Given the description of an element on the screen output the (x, y) to click on. 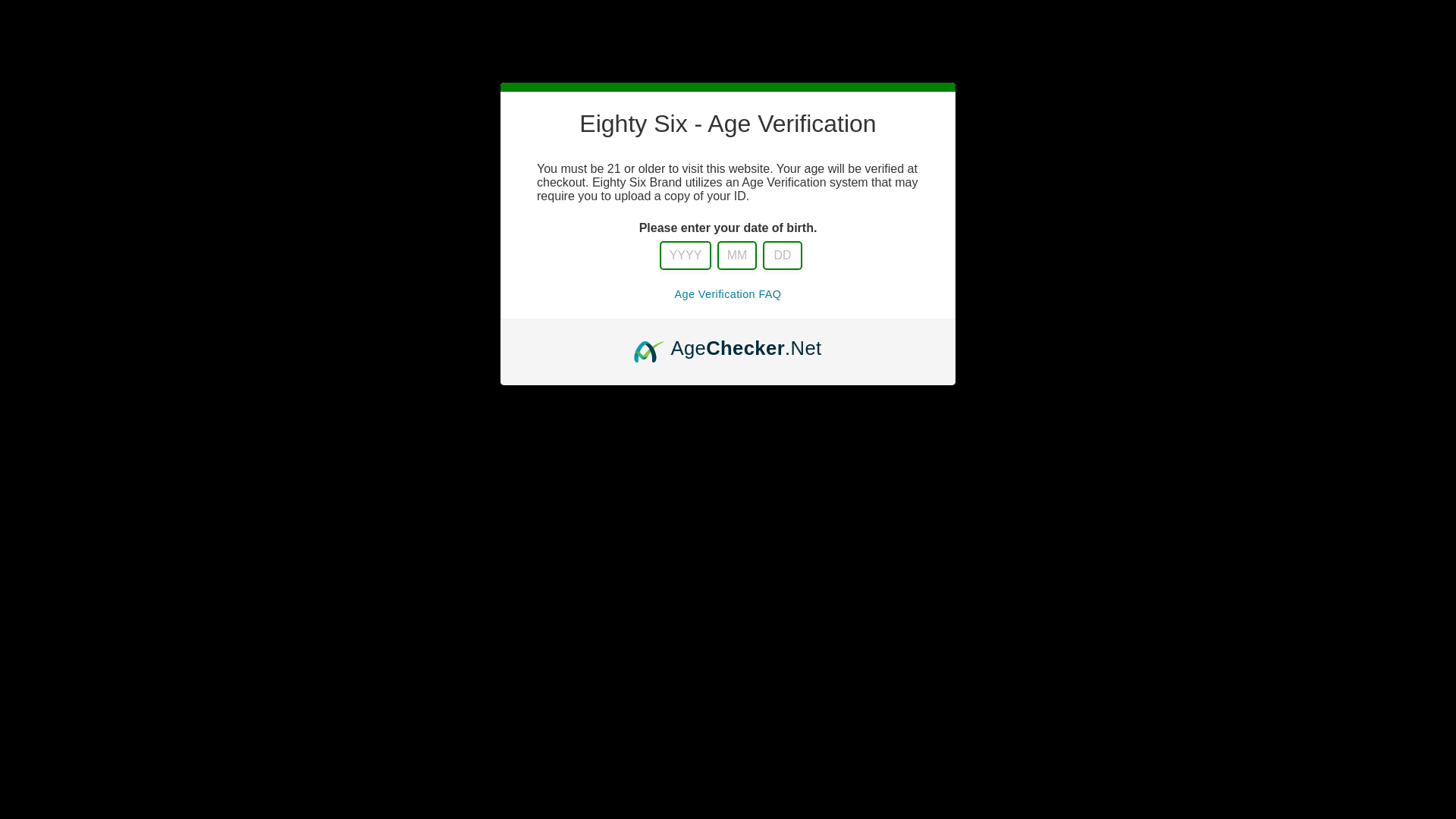
REVIEWS (924, 45)
DISTRIBUTION (520, 45)
AFFILIATE PROGRAM (1120, 56)
MEDIA KIT (620, 56)
EVENTS (724, 45)
REWARDS (1020, 45)
GIVEAWAYS (822, 45)
View your shopping cart (1155, 125)
